Given the description of an element on the screen output the (x, y) to click on. 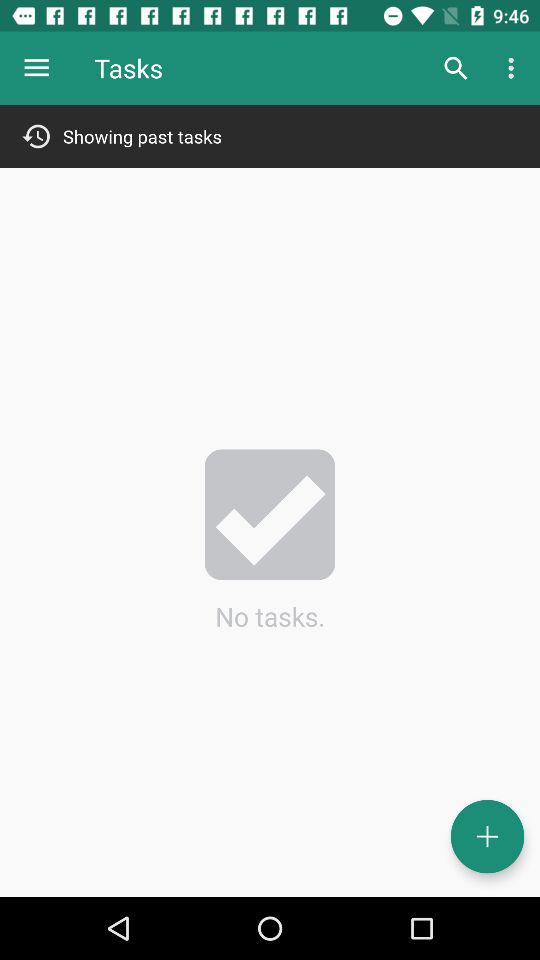
turn on item above showing past tasks (455, 67)
